Given the description of an element on the screen output the (x, y) to click on. 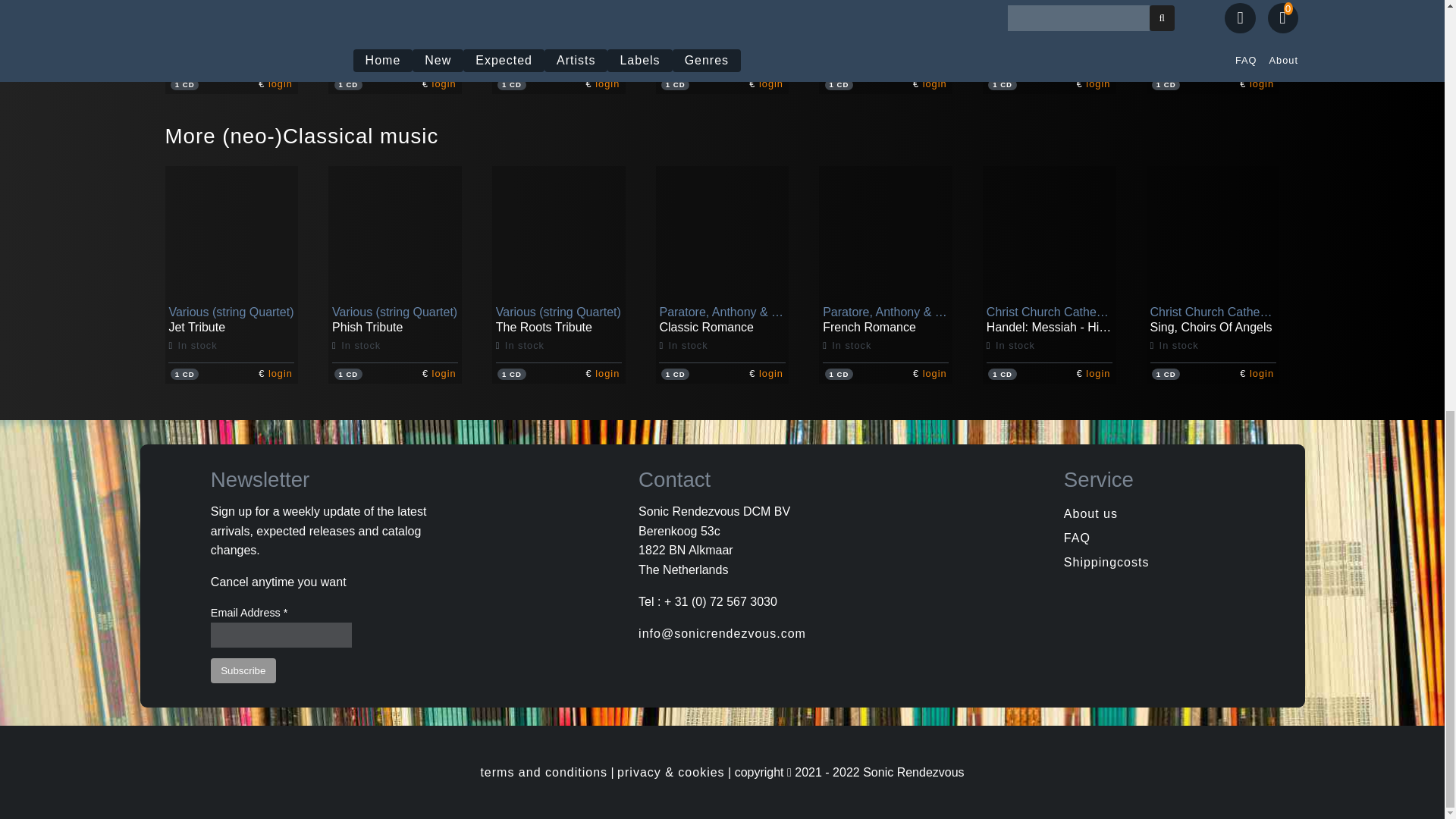
Christ Church Catherdral Choir - Sing, Choirs Of Angels (1213, 344)
1 CD (184, 84)
Subscribe (243, 670)
Brancaccio, Vincenzo Sandro - Reverie Italien, Guitar Music (885, 55)
login (279, 83)
